Given the description of an element on the screen output the (x, y) to click on. 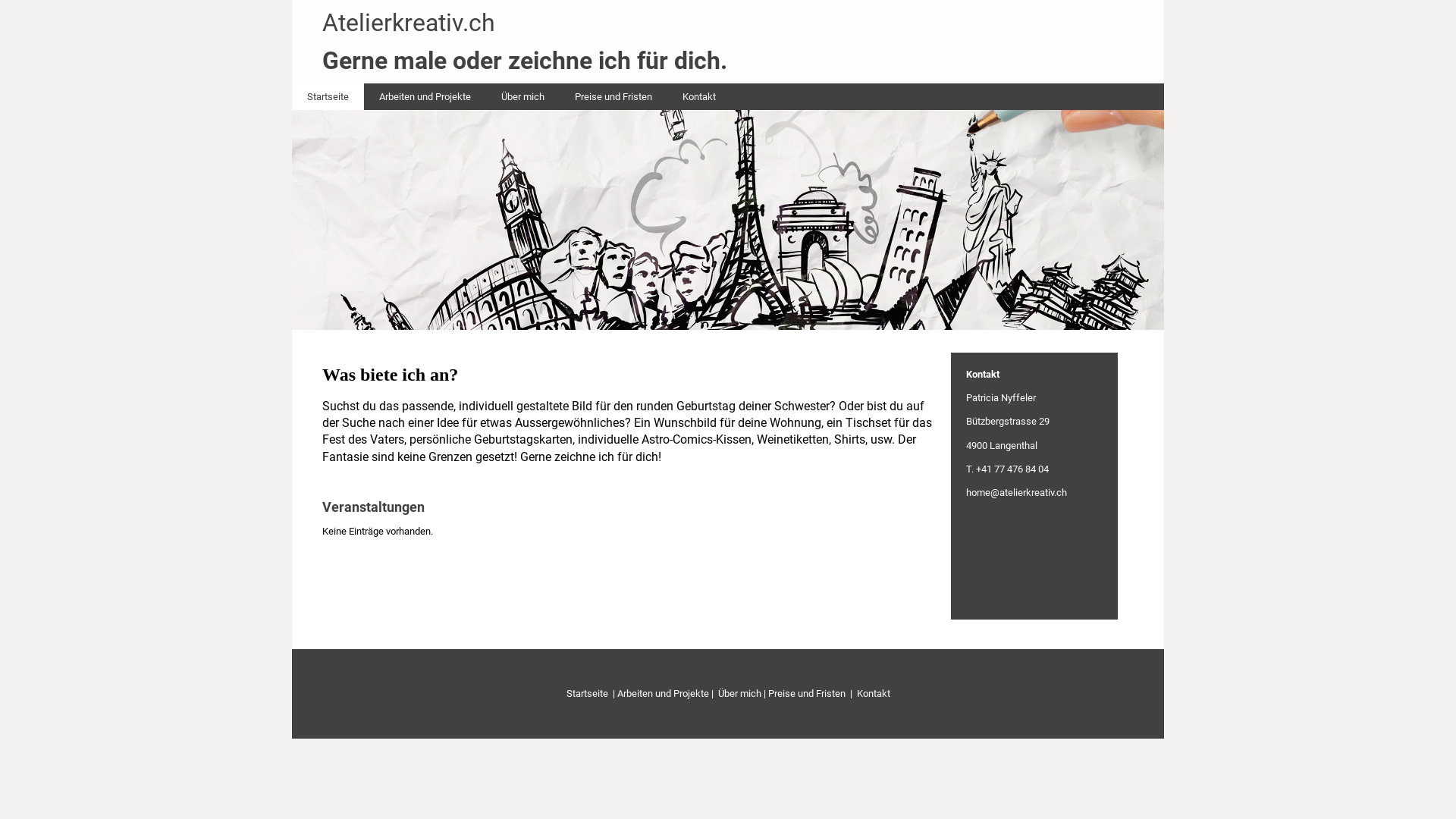
Arbeiten und Projekte Element type: text (425, 96)
Kontakt Element type: text (873, 693)
Startseite Element type: text (586, 693)
Arbeiten Element type: text (634, 693)
Kontakt Element type: text (699, 96)
Startseite Element type: text (327, 96)
Preise und Fristen Element type: text (613, 96)
Preise Element type: text (780, 693)
